Given the description of an element on the screen output the (x, y) to click on. 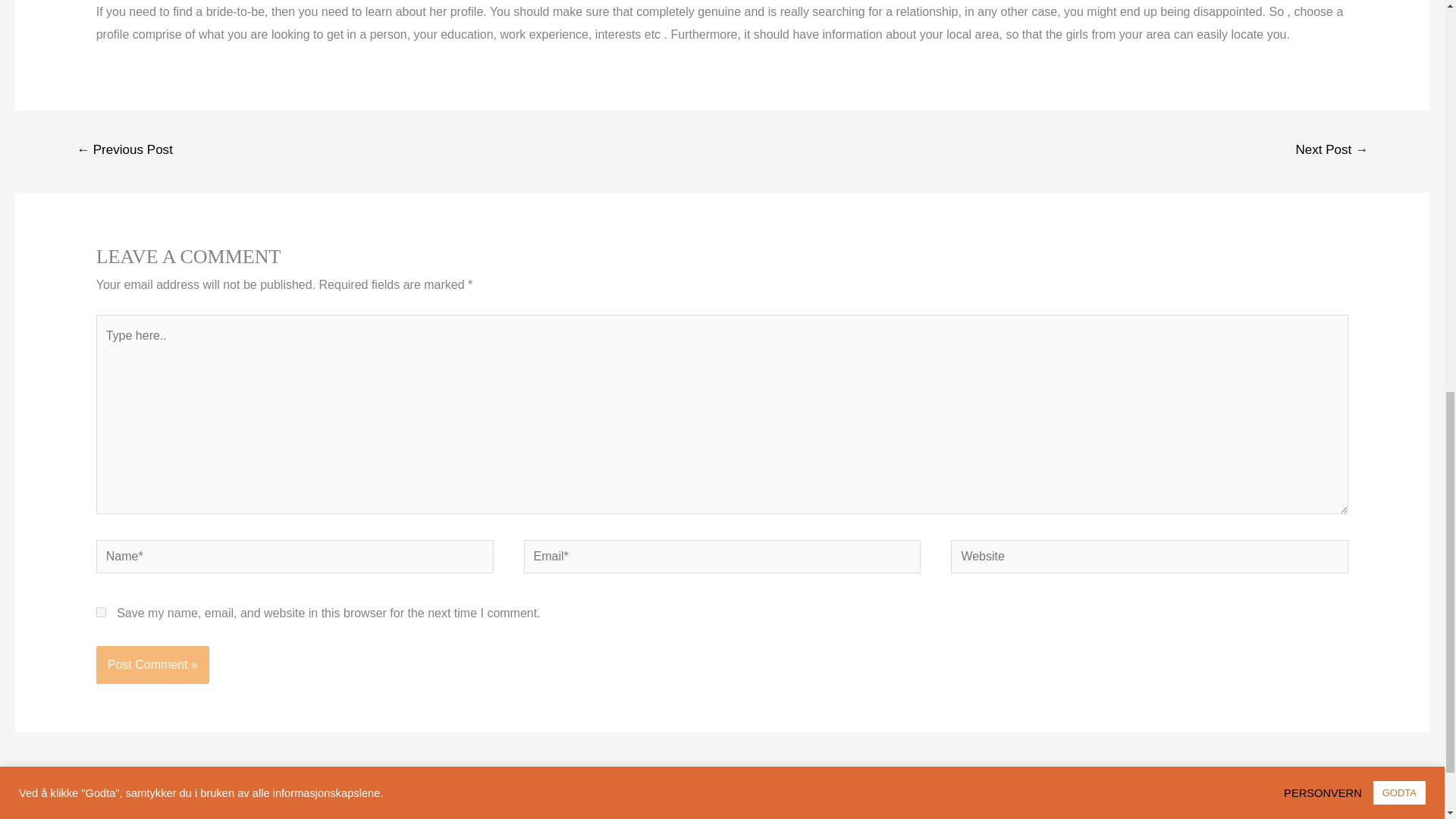
TIMEBESTILLING (755, 803)
KONTAKT (1049, 803)
TJENESTER (477, 803)
PERSONVERN (873, 803)
yes (101, 612)
PRIS (550, 803)
OM MEG (391, 803)
COVID-19 (969, 803)
